Given the description of an element on the screen output the (x, y) to click on. 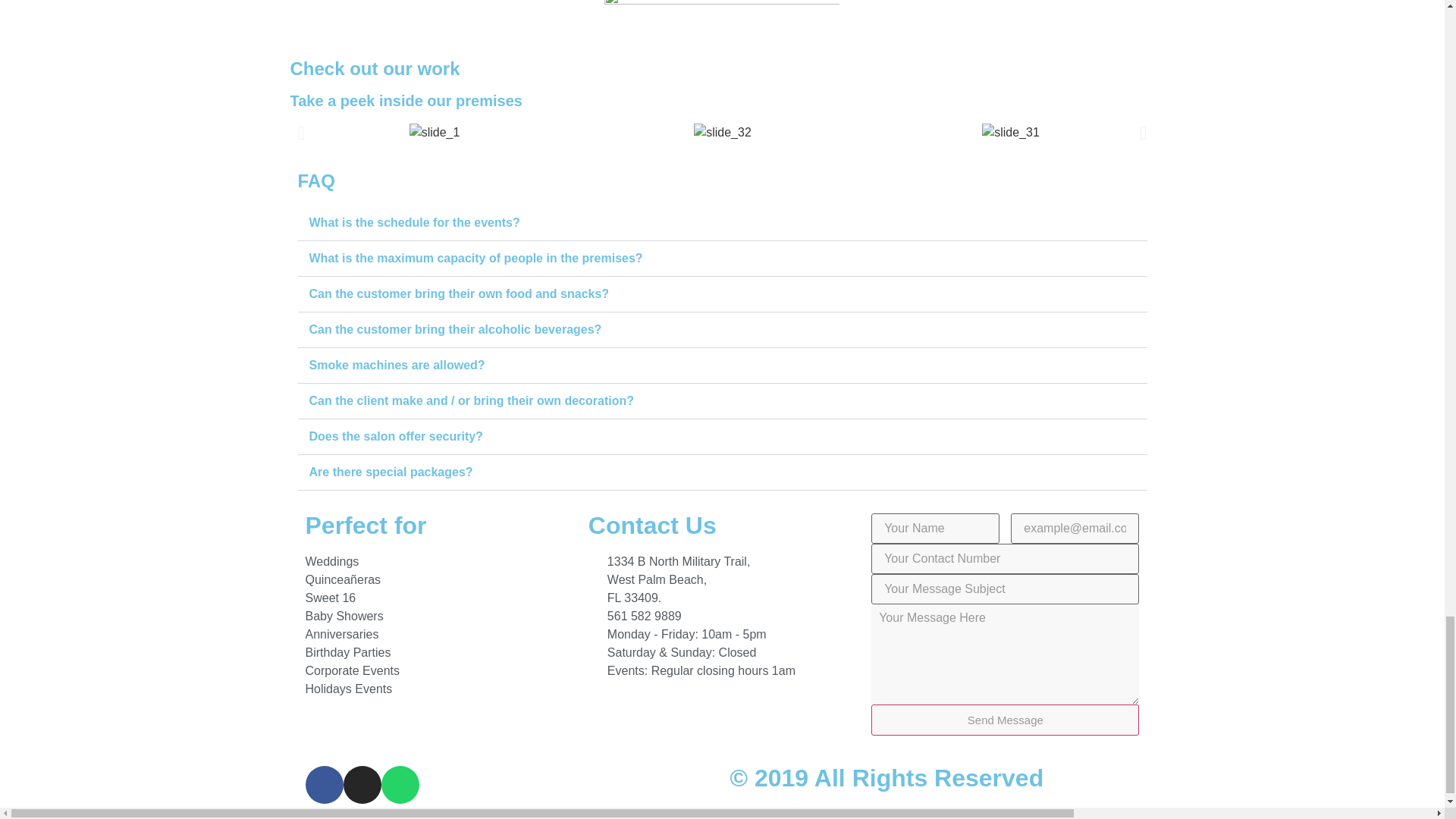
Are there special packages? (390, 472)
Can the customer bring their alcoholic beverages? (455, 328)
What is the maximum capacity of people in the premises? (475, 257)
Can the customer bring their own food and snacks? (459, 293)
What is the schedule for the events? (413, 222)
Send Message (1004, 719)
Does the salon offer security? (395, 436)
Smoke machines are allowed? (396, 364)
